Given the description of an element on the screen output the (x, y) to click on. 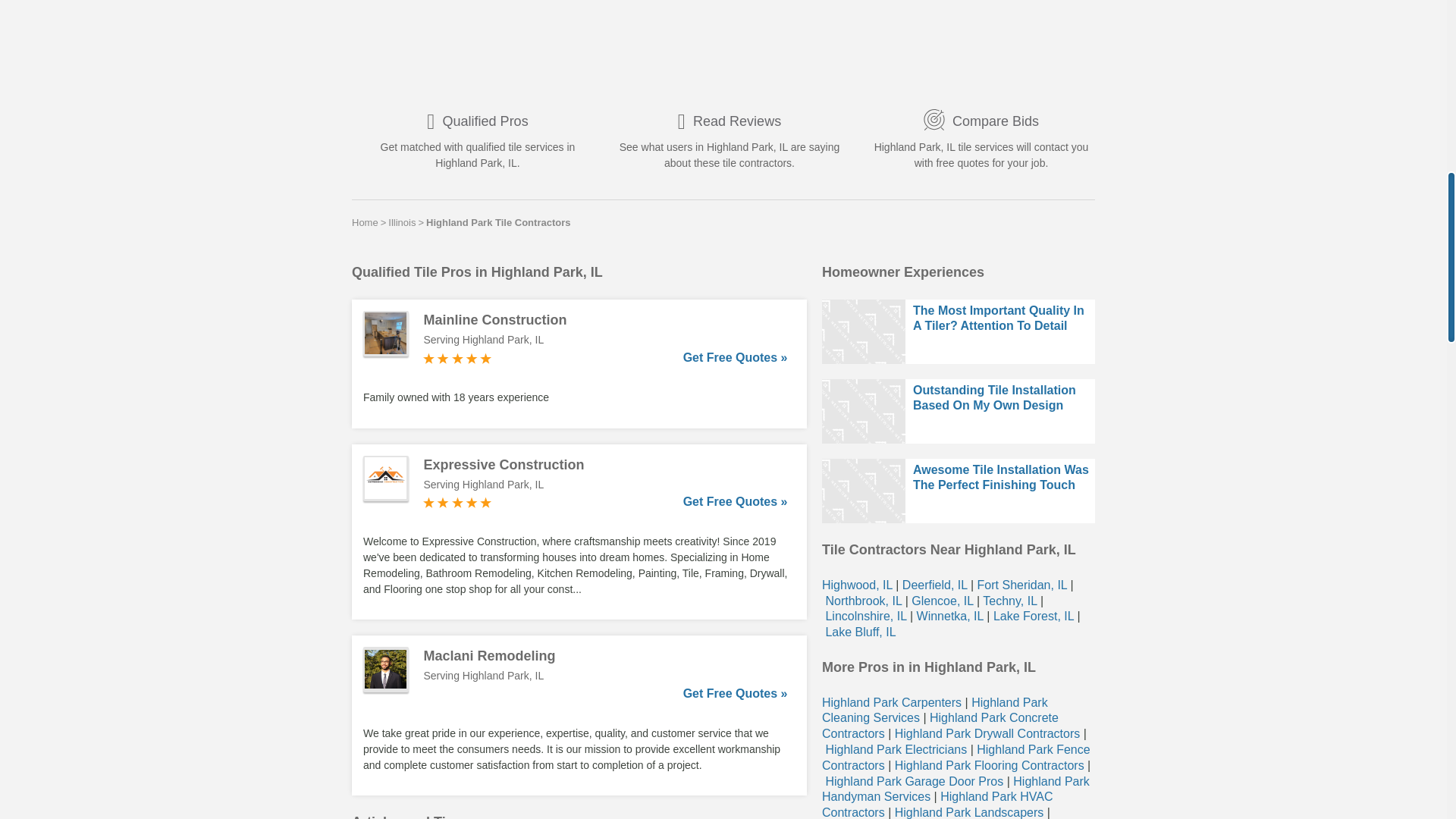
5 star rating (457, 358)
5 star rating (457, 502)
Mainline Construction (605, 320)
Illinois (401, 222)
Home (365, 222)
